Given the description of an element on the screen output the (x, y) to click on. 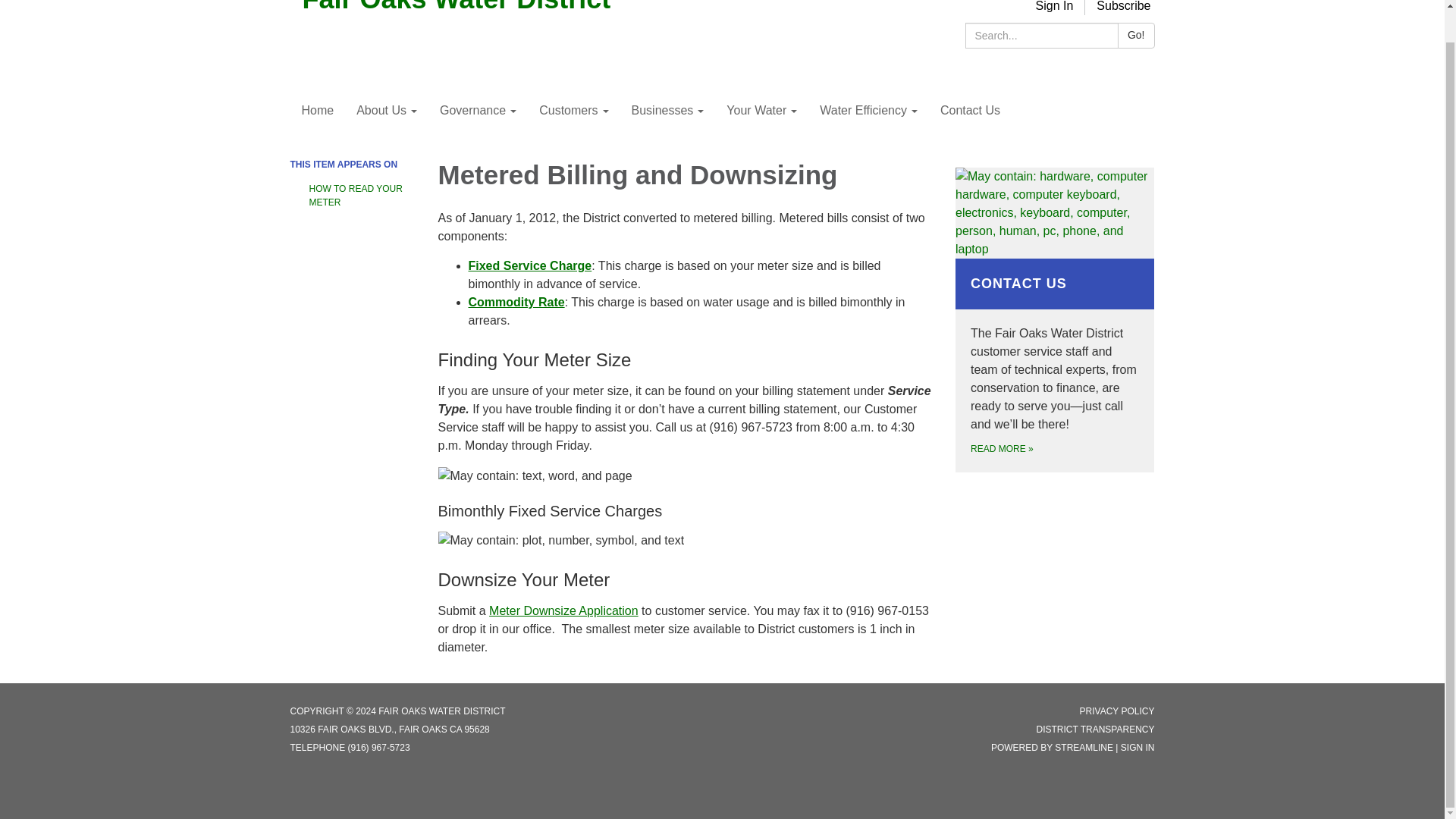
Special District Transparency Report (1094, 728)
Your Water (761, 110)
Subscribe (1122, 6)
Home (317, 110)
About Us (386, 110)
Go! (1136, 35)
Streamline: Technology for Special Districts (1083, 747)
Businesses (668, 110)
Governance (477, 110)
Customers (573, 110)
